Given the description of an element on the screen output the (x, y) to click on. 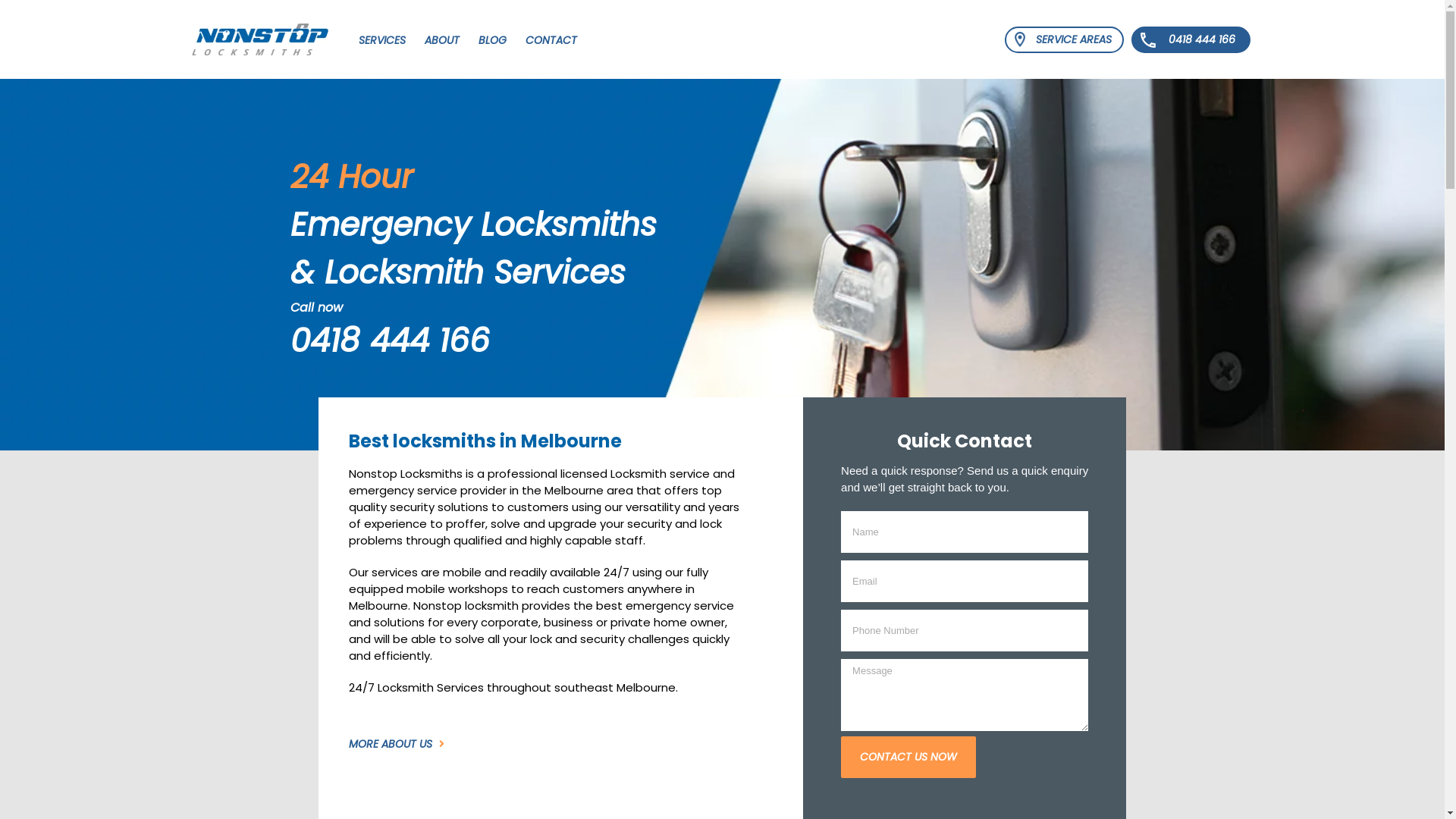
SERVICES Element type: text (380, 39)
BLOG Element type: text (491, 39)
CONTACT Element type: text (550, 39)
Contact Us Now Element type: text (907, 757)
MORE ABOUT US Element type: text (396, 744)
Search Element type: hover (600, 39)
0418 444 166 Element type: text (389, 340)
SERVICE AREAS Element type: text (1063, 39)
ABOUT Element type: text (441, 39)
0418 444 166 Element type: text (1190, 39)
